Given the description of an element on the screen output the (x, y) to click on. 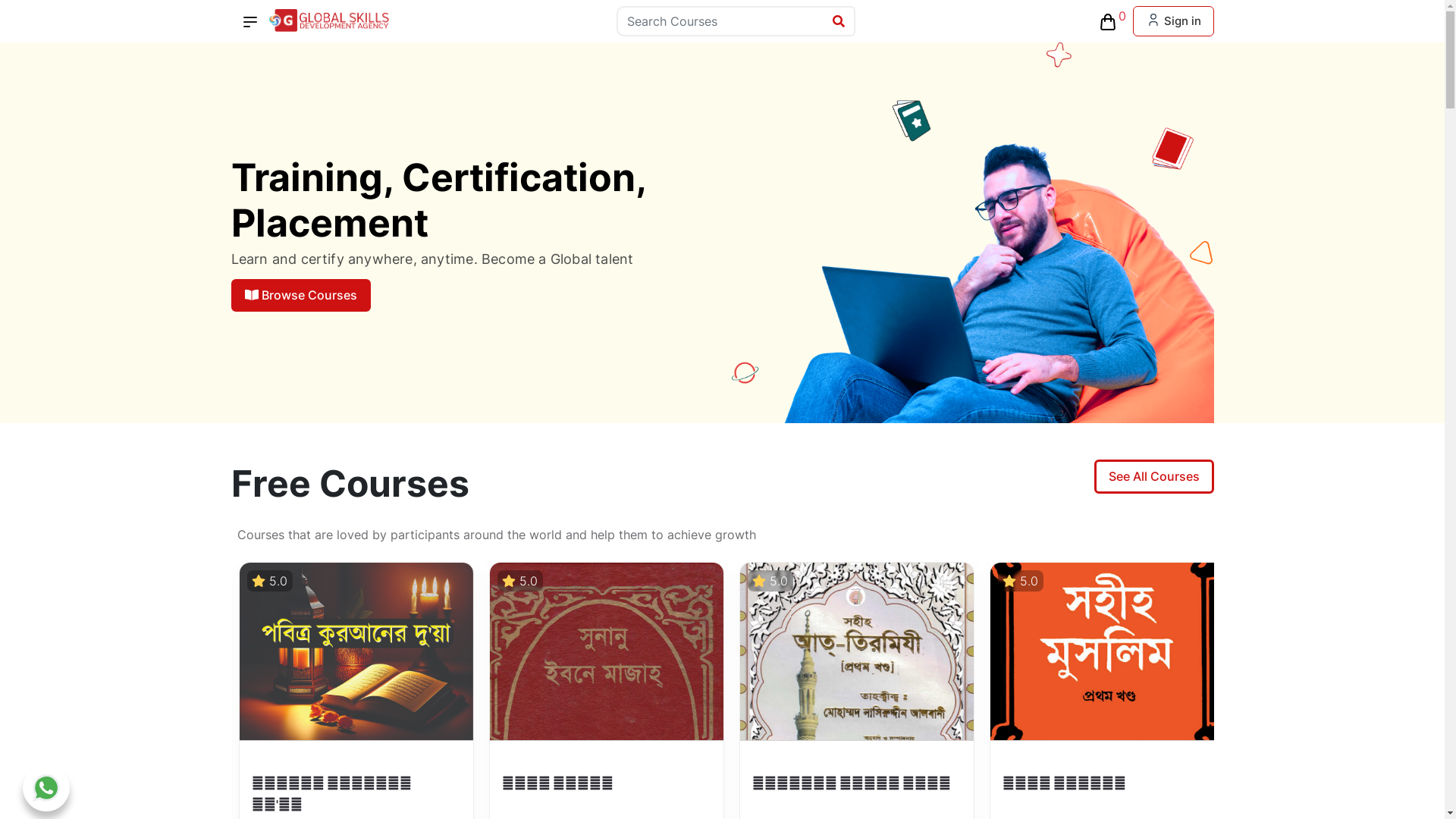
Browse Courses Element type: text (300, 295)
0 Element type: text (1107, 21)
Start Chat Element type: hover (45, 787)
See All Courses Element type: text (1153, 476)
Sign in Element type: text (1173, 21)
